Given the description of an element on the screen output the (x, y) to click on. 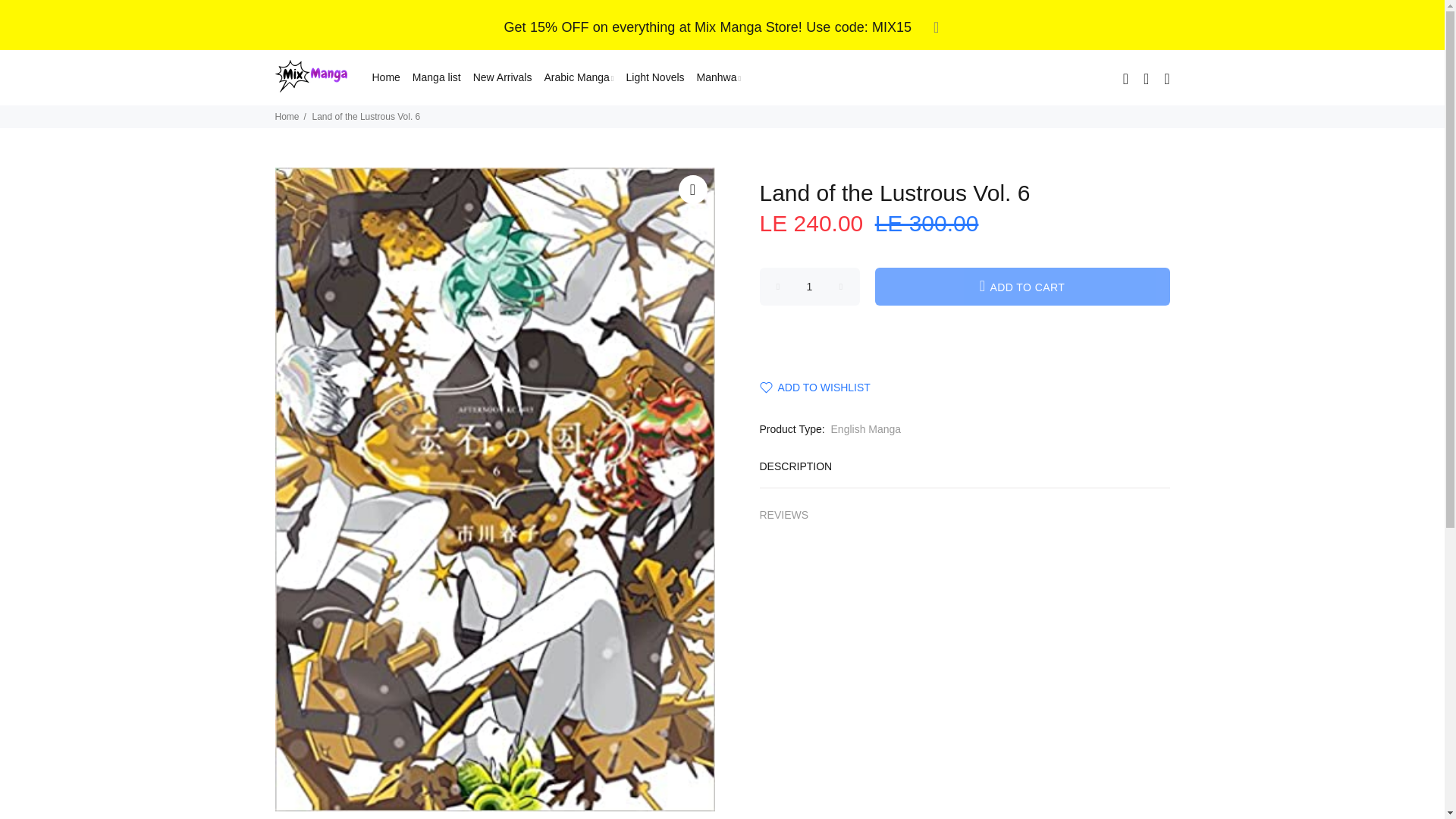
Home (286, 116)
Manhwa (715, 77)
Light Novels (655, 77)
Arabic Manga (578, 77)
Manga list (436, 77)
Home (384, 77)
English Manga (866, 428)
New Arrivals (502, 77)
ADD TO CART (1022, 286)
ADD TO WISHLIST (815, 387)
